Given the description of an element on the screen output the (x, y) to click on. 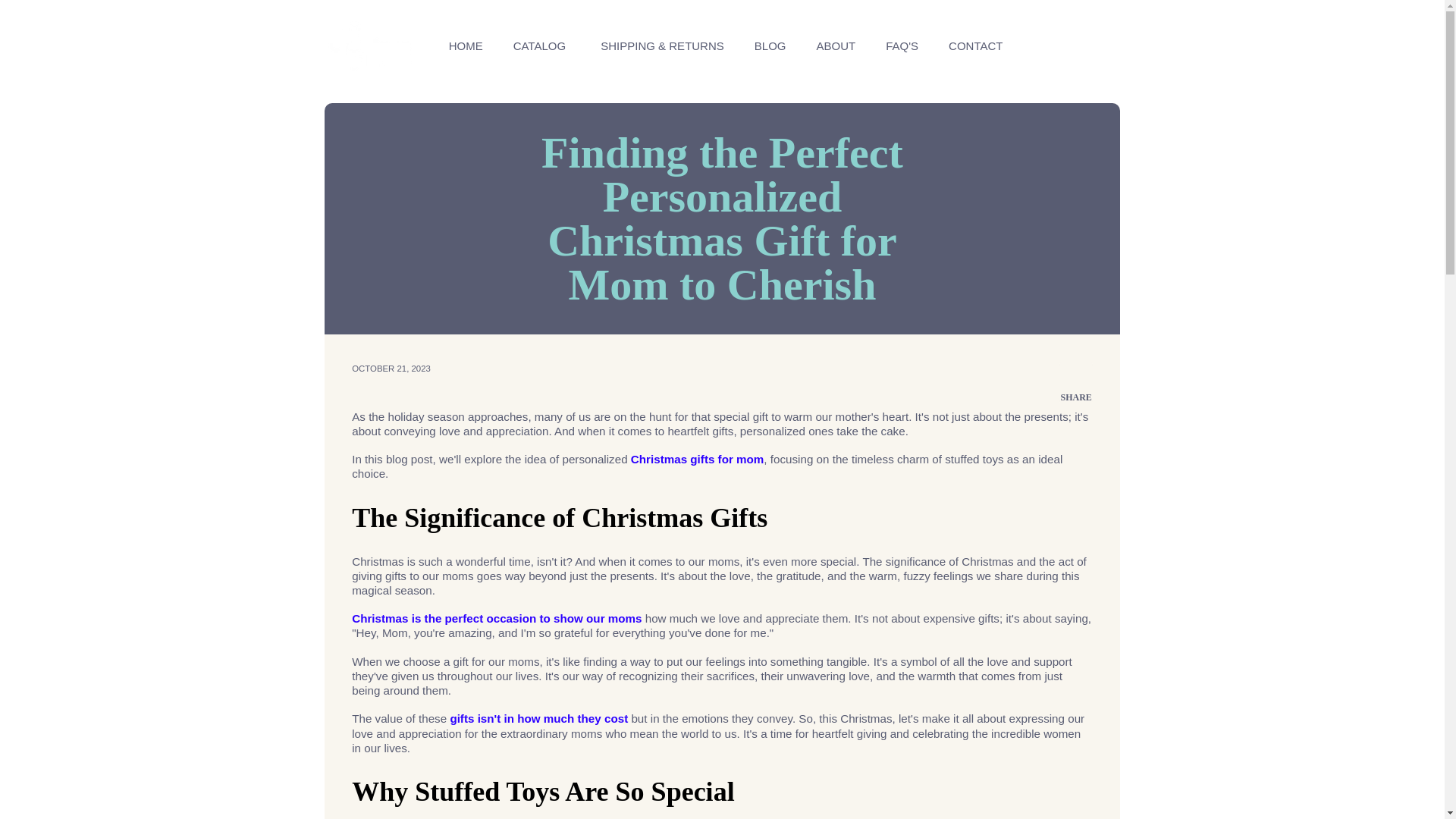
SKIP TO CONTENT (95, 21)
HOME (465, 45)
CATALOG (541, 45)
